Given the description of an element on the screen output the (x, y) to click on. 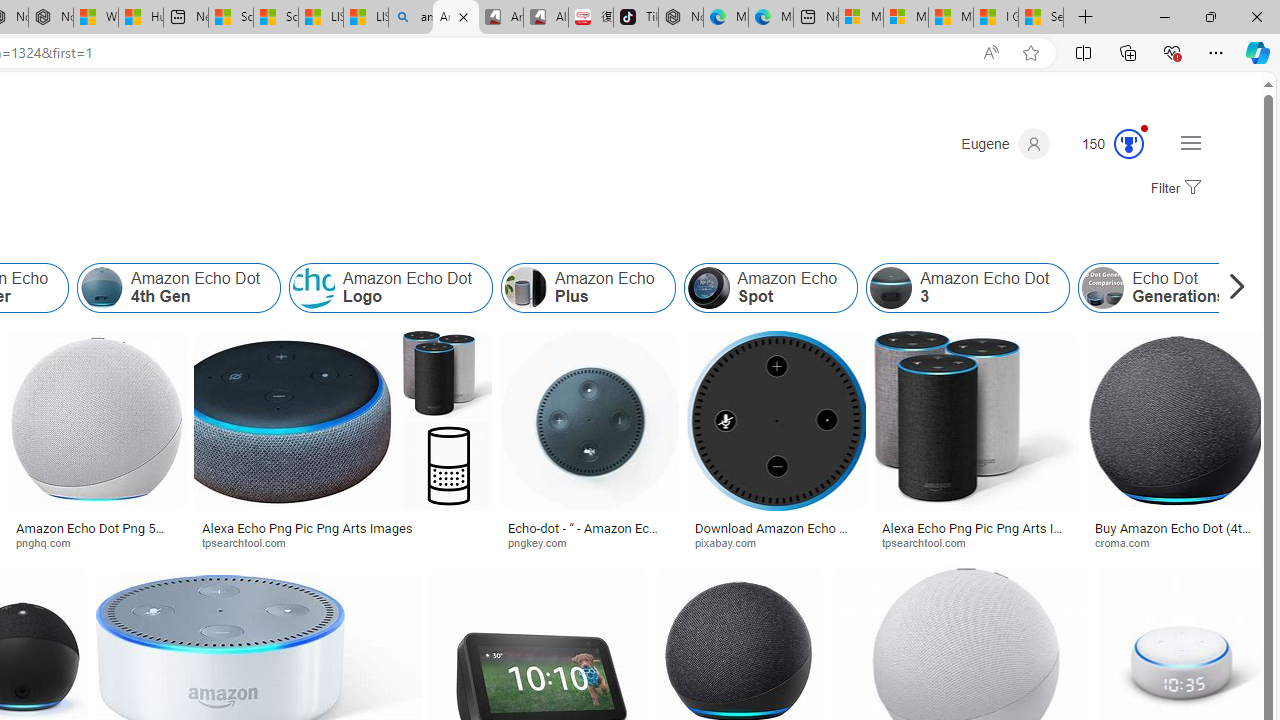
Echo Dot Generations (1103, 287)
croma.com (1128, 541)
Amazon Echo Dot 4th Gen (179, 287)
pngkey.com (544, 541)
pngkey.com (589, 542)
Amazon Echo Dot Logo (390, 287)
Huge shark washes ashore at New York City beach | Watch (140, 17)
